Given the description of an element on the screen output the (x, y) to click on. 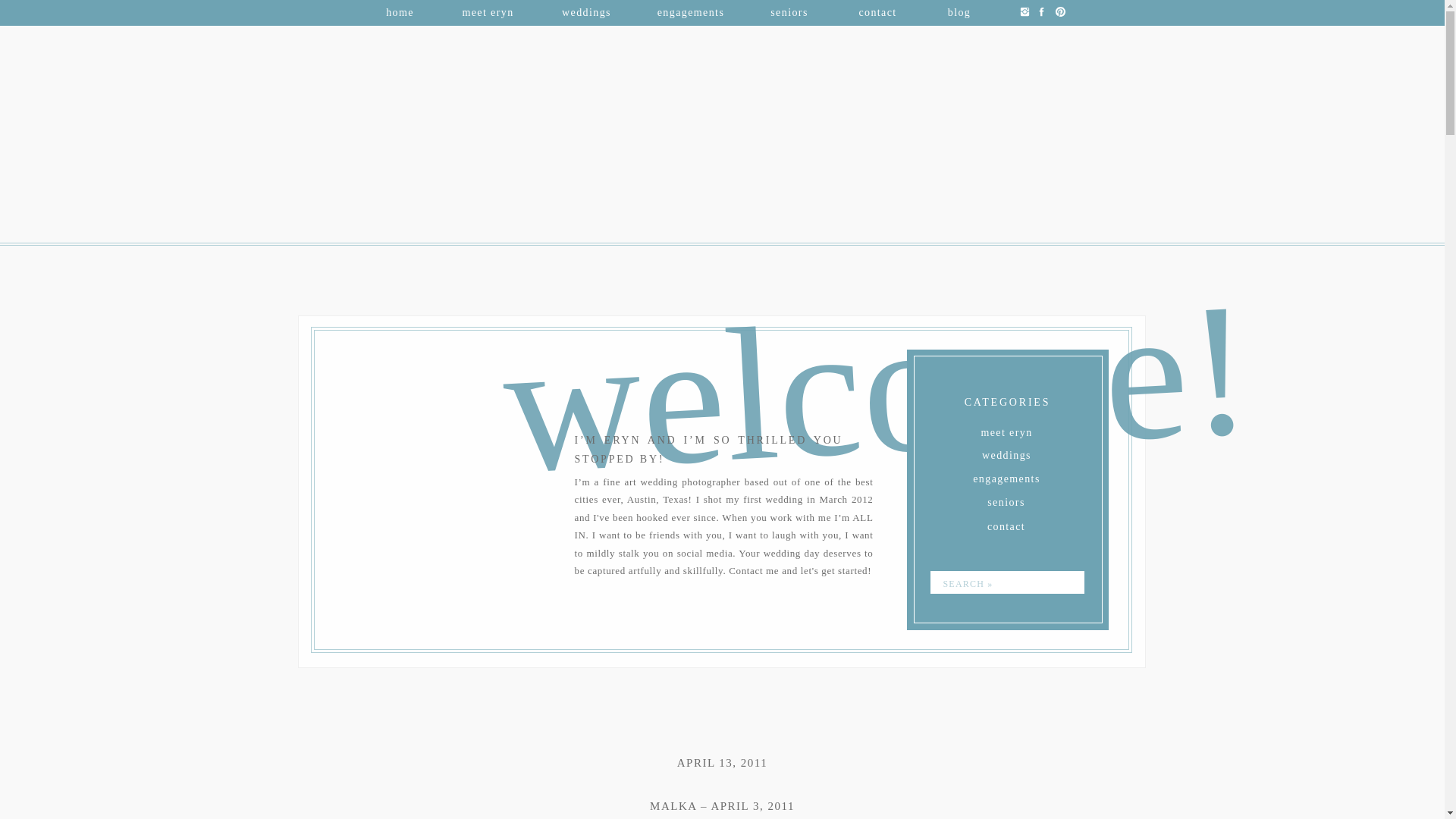
meet eryn (486, 10)
engagements (1006, 476)
weddings (1006, 452)
blog (960, 10)
seniors (788, 10)
weddings (586, 10)
engagements (690, 10)
seniors (1004, 499)
meet eryn (1006, 430)
contact (1004, 523)
